Given the description of an element on the screen output the (x, y) to click on. 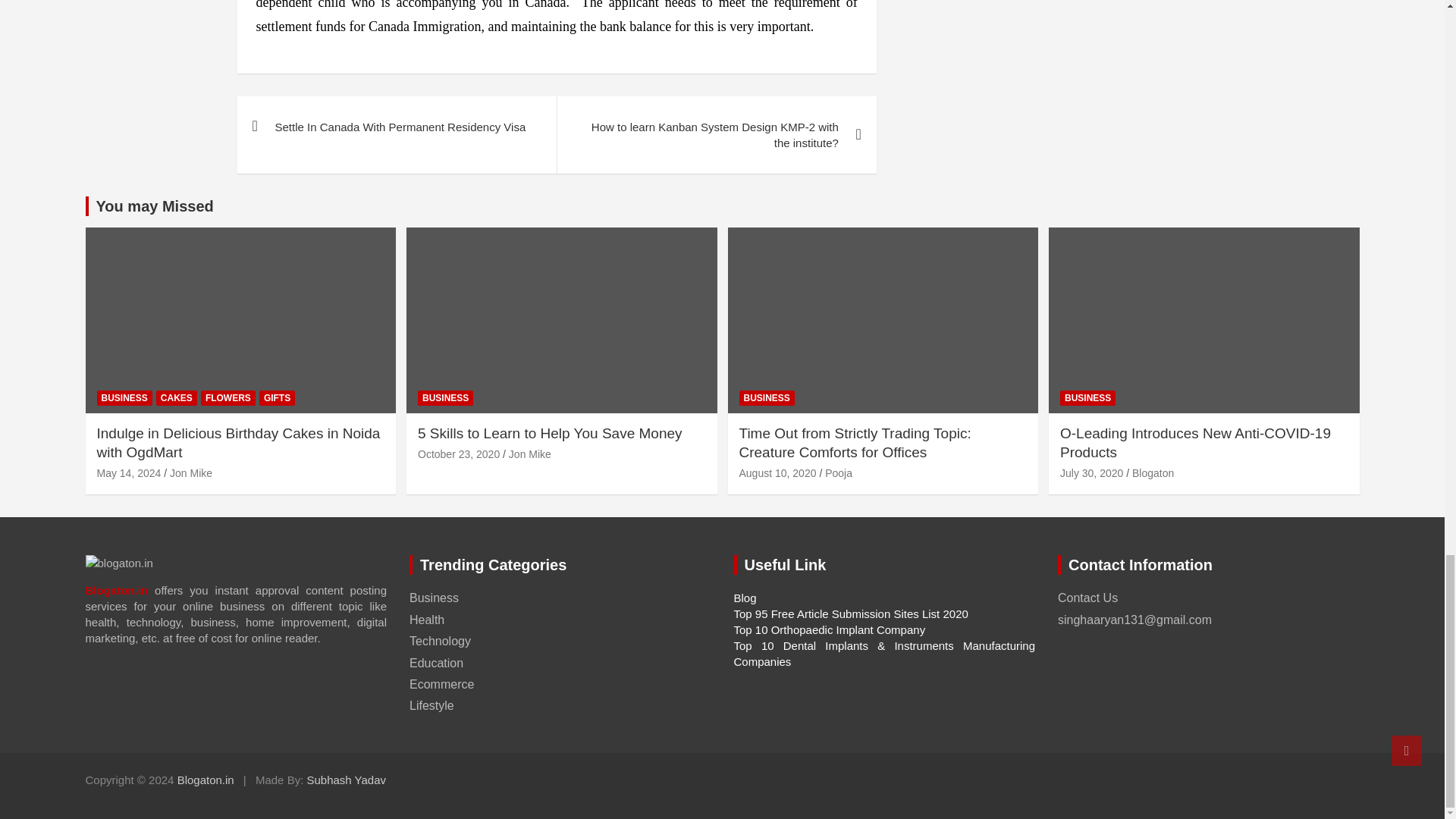
O-Leading Introduces New Anti-COVID-19 Products (1090, 472)
Indulge in Delicious Birthday Cakes in Noida with OgdMart (129, 472)
5 Skills to Learn to Help You Save Money (458, 453)
Blogaton.in (205, 779)
